Given the description of an element on the screen output the (x, y) to click on. 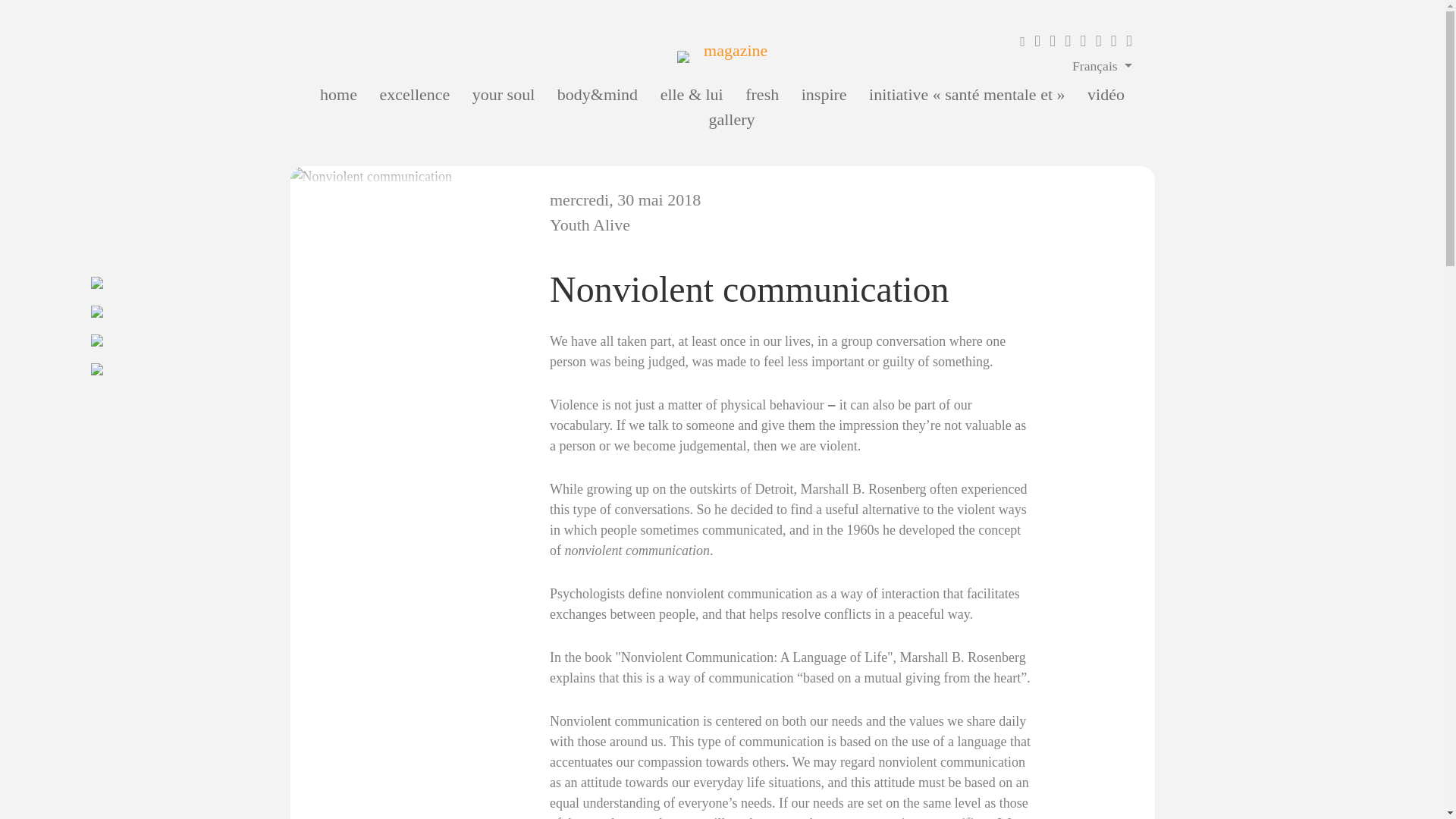
gallery (730, 118)
home (338, 94)
your soul (503, 94)
excellence (413, 94)
fresh (761, 94)
inspire (824, 94)
Login (1023, 41)
